Given the description of an element on the screen output the (x, y) to click on. 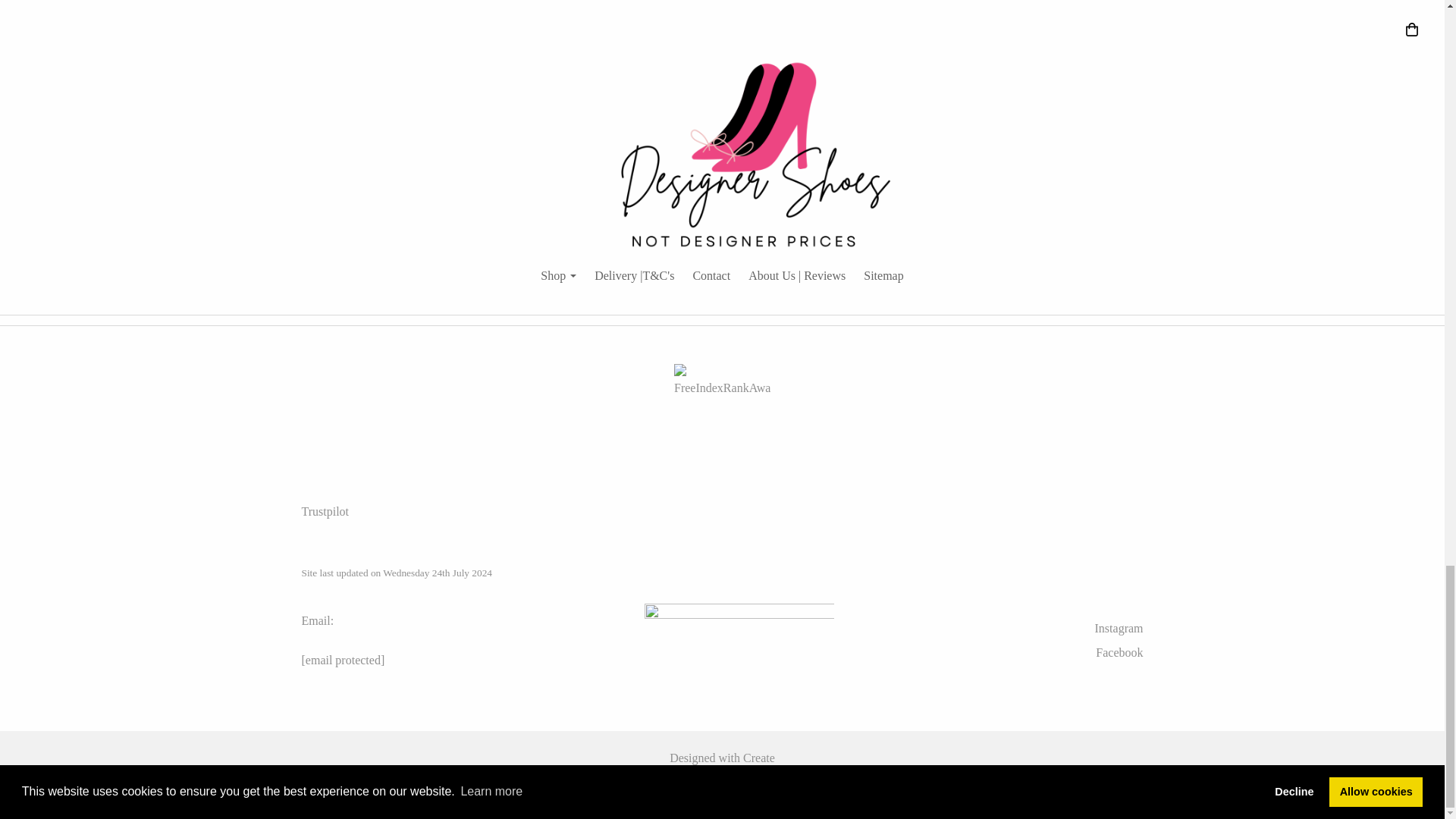
FreeIndexRankAward250 (722, 411)
